Given the description of an element on the screen output the (x, y) to click on. 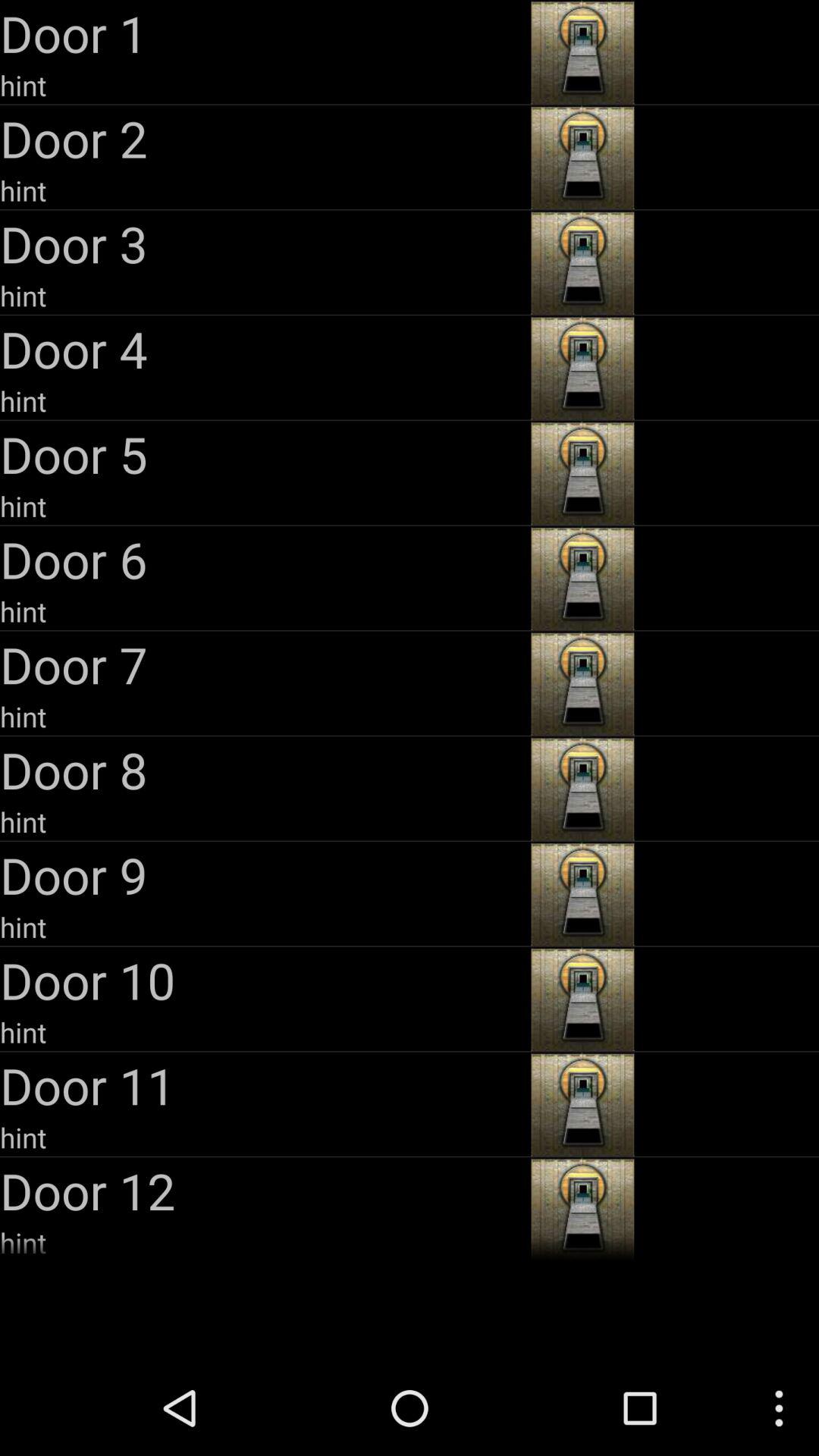
choose door 1 app (263, 33)
